Given the description of an element on the screen output the (x, y) to click on. 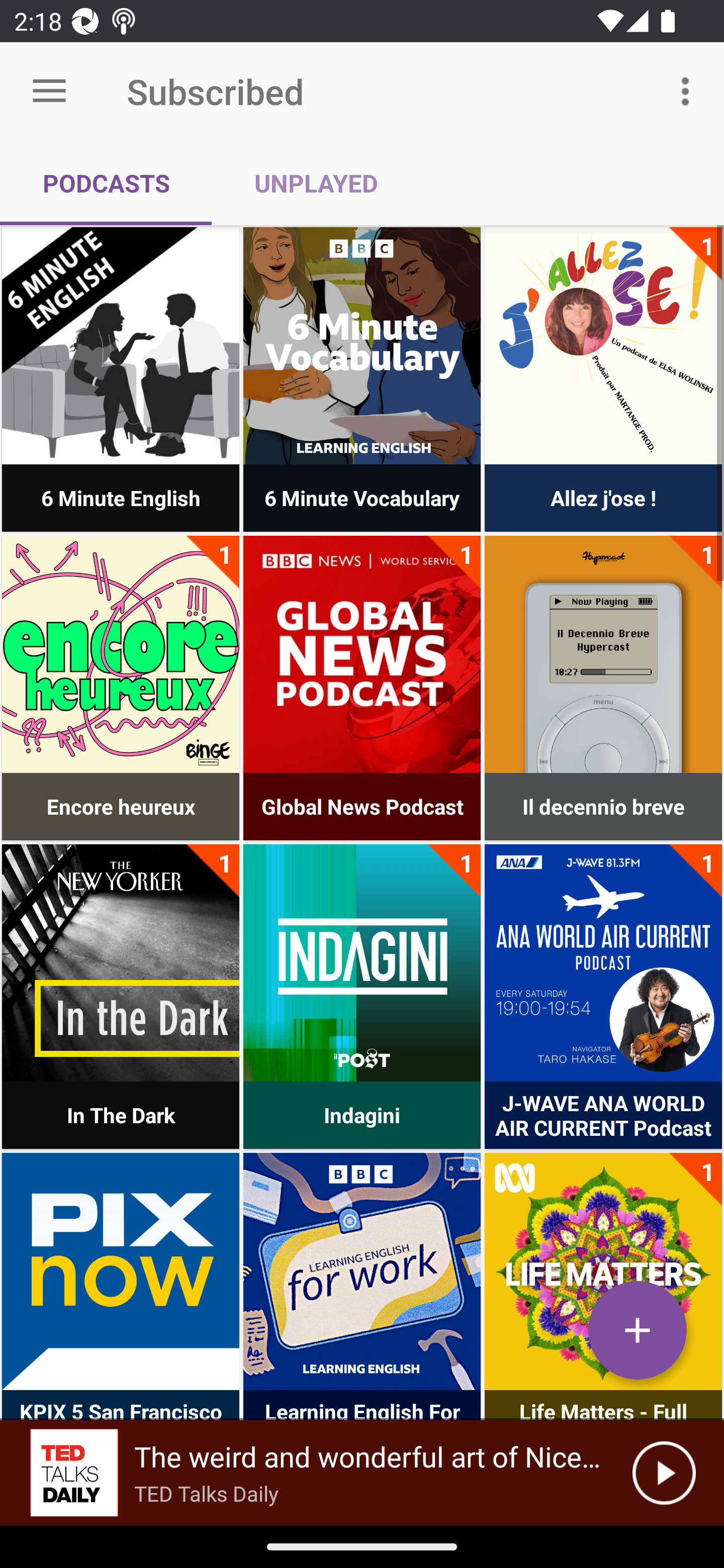
Open menu (49, 91)
More options (688, 90)
PODCASTS (105, 183)
UNPLAYED (315, 183)
6 Minute English (120, 345)
6 Minute Vocabulary (361, 345)
Allez j'ose ! (602, 345)
Encore heureux (120, 654)
Global News Podcast (361, 654)
Il decennio breve (602, 654)
In The Dark (120, 962)
Indagini (361, 962)
J-WAVE ANA WORLD AIR CURRENT Podcast (602, 962)
KPIX 5 San Francisco Bay Area (120, 1271)
Learning English For Work (361, 1271)
Life Matters - Full program podcast (602, 1271)
Play (663, 1472)
